Given the description of an element on the screen output the (x, y) to click on. 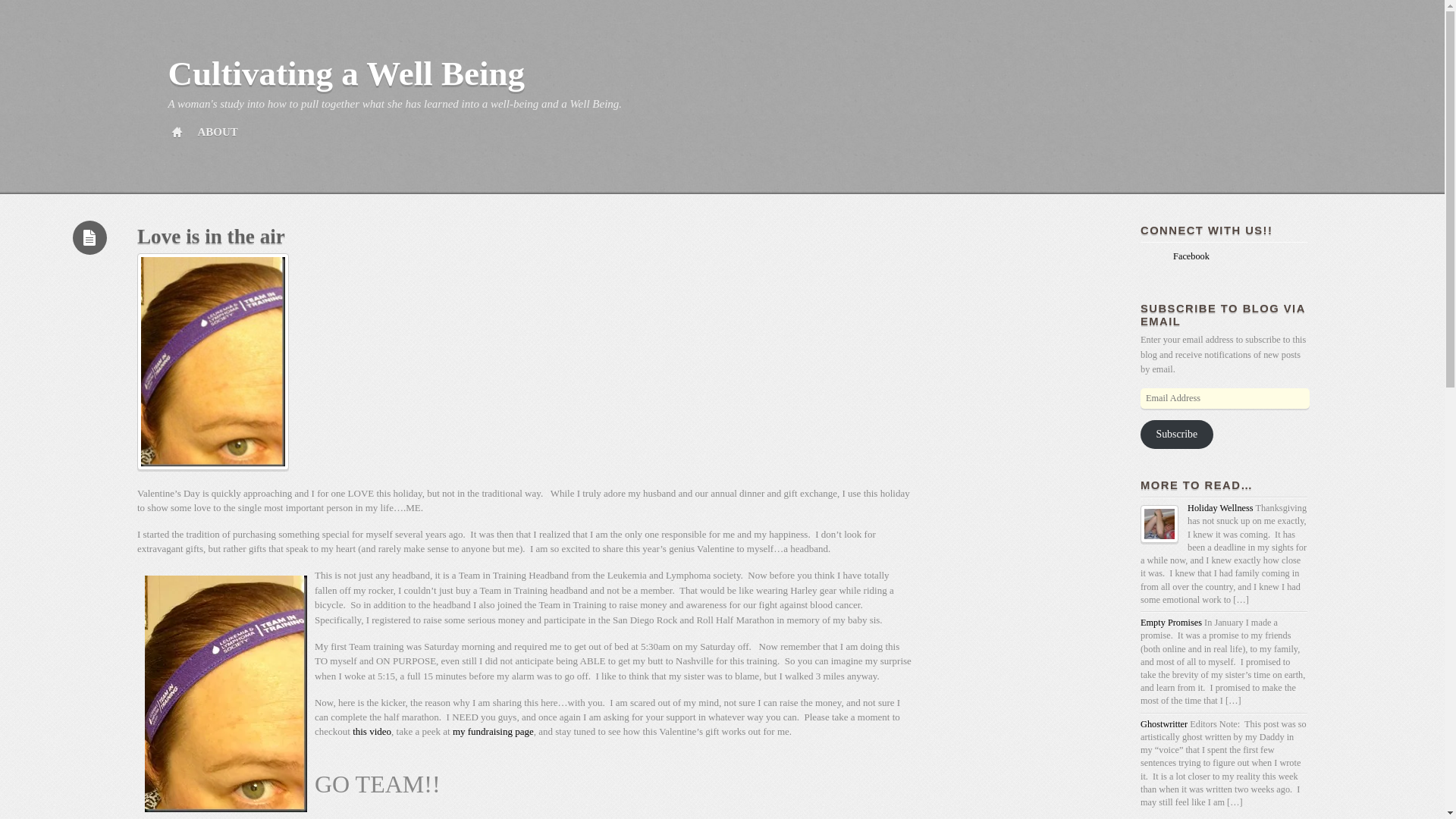
Holiday Wellness (1220, 507)
Cultivating a Well Being (345, 73)
HOME (176, 131)
ABOUT (217, 131)
Love is in the air (210, 236)
this video (371, 731)
Facebook (1174, 255)
Ghostwritter (1164, 724)
my fundraising page (493, 731)
Cultivating a Well Being (345, 73)
